Given the description of an element on the screen output the (x, y) to click on. 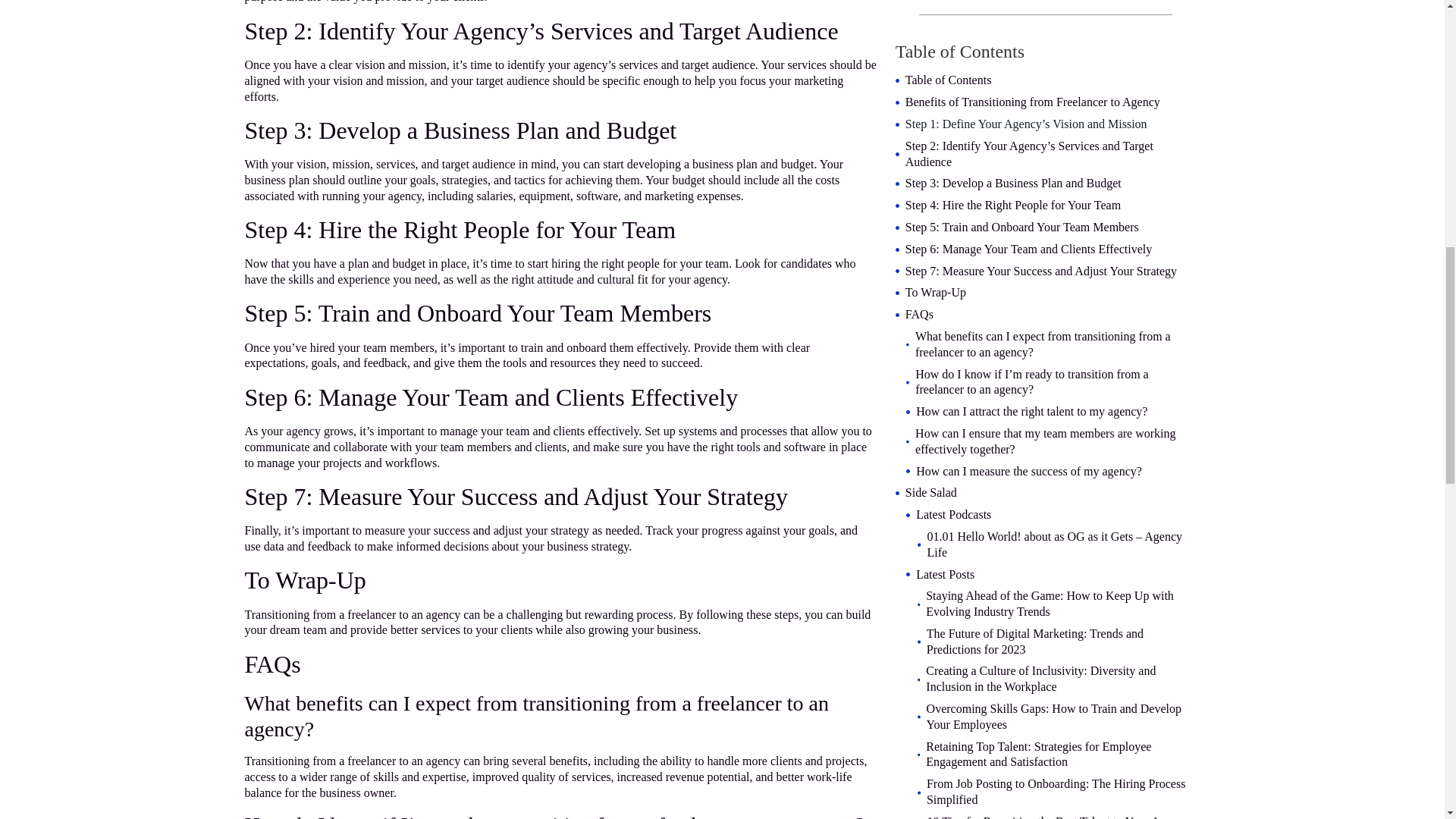
Table of Contents (948, 80)
Step 4: Hire the Right People for Your Team (1013, 205)
Step 3: Develop a Business Plan and Budget (1013, 183)
Benefits of Transitioning from Freelancer to Agency (1032, 102)
